Given the description of an element on the screen output the (x, y) to click on. 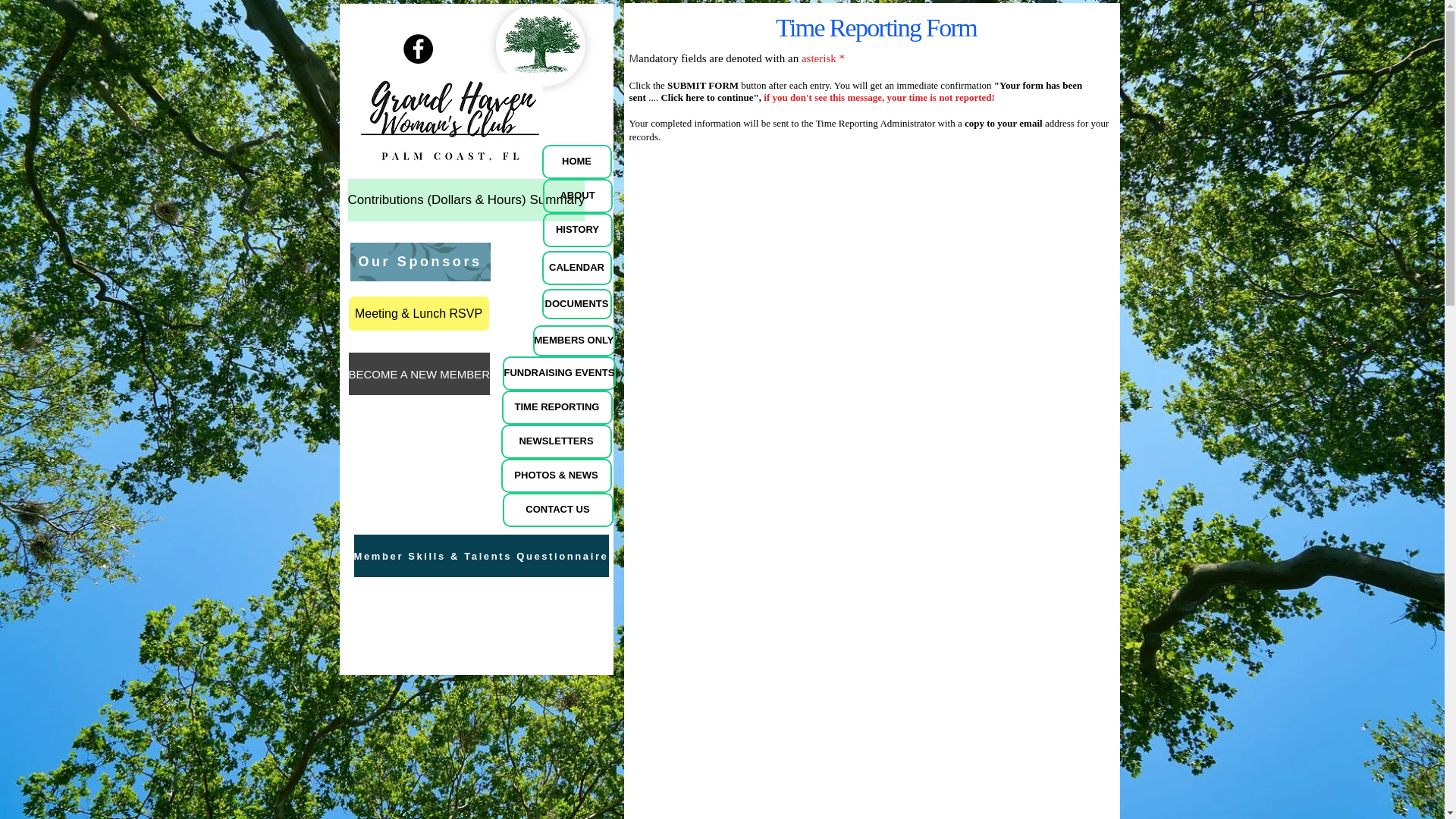
FUNDRAISING EVENTS (558, 373)
DOCUMENTS (576, 304)
TIME REPORTING (557, 407)
CONTACT US (557, 510)
NEWSLETTERS (555, 441)
Log In (1044, 13)
HISTORY (577, 229)
Our Sponsors (420, 261)
MEMBERS ONLY (573, 340)
BECOME A NEW MEMBER (419, 373)
